Given the description of an element on the screen output the (x, y) to click on. 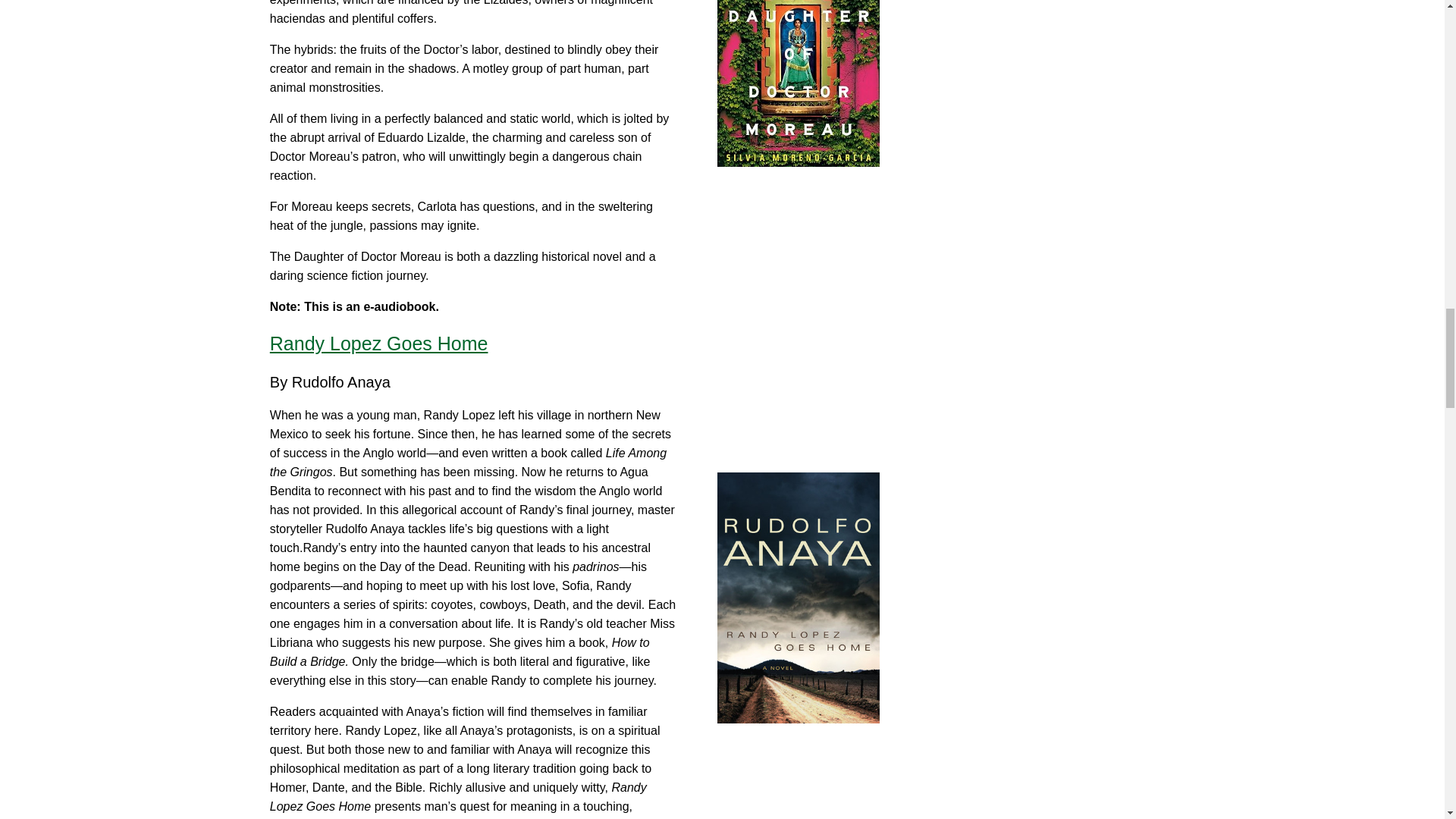
Randy Lopez Goes Home (378, 342)
